Given the description of an element on the screen output the (x, y) to click on. 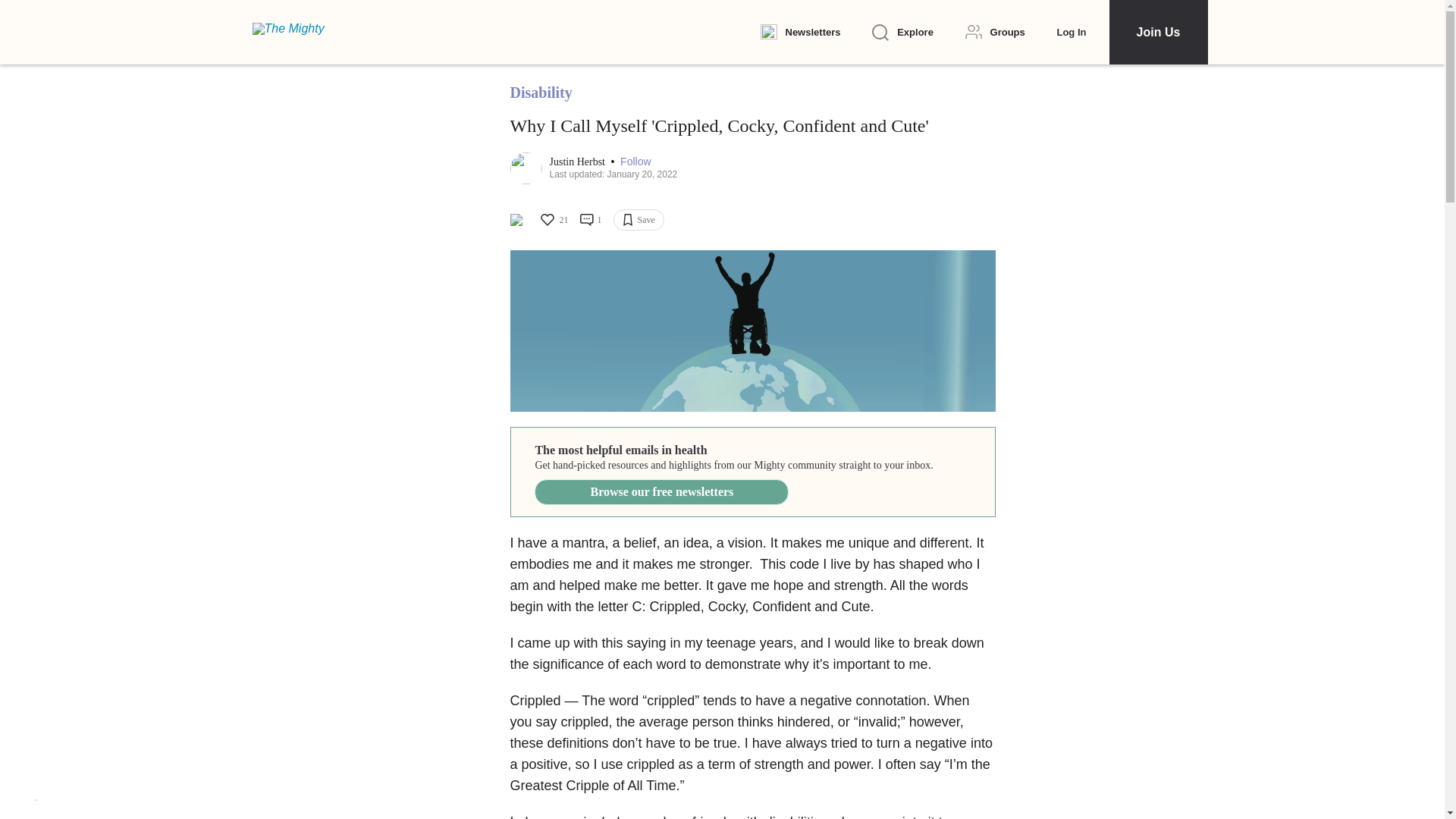
Justin Herbst (577, 161)
21 (552, 219)
Browse our free newsletters (661, 492)
Follow (635, 161)
Disability (540, 92)
Save (637, 219)
Explore (902, 32)
My Mantra as a Person With a Disability (751, 330)
1 (590, 219)
Newsletters (800, 32)
